Given the description of an element on the screen output the (x, y) to click on. 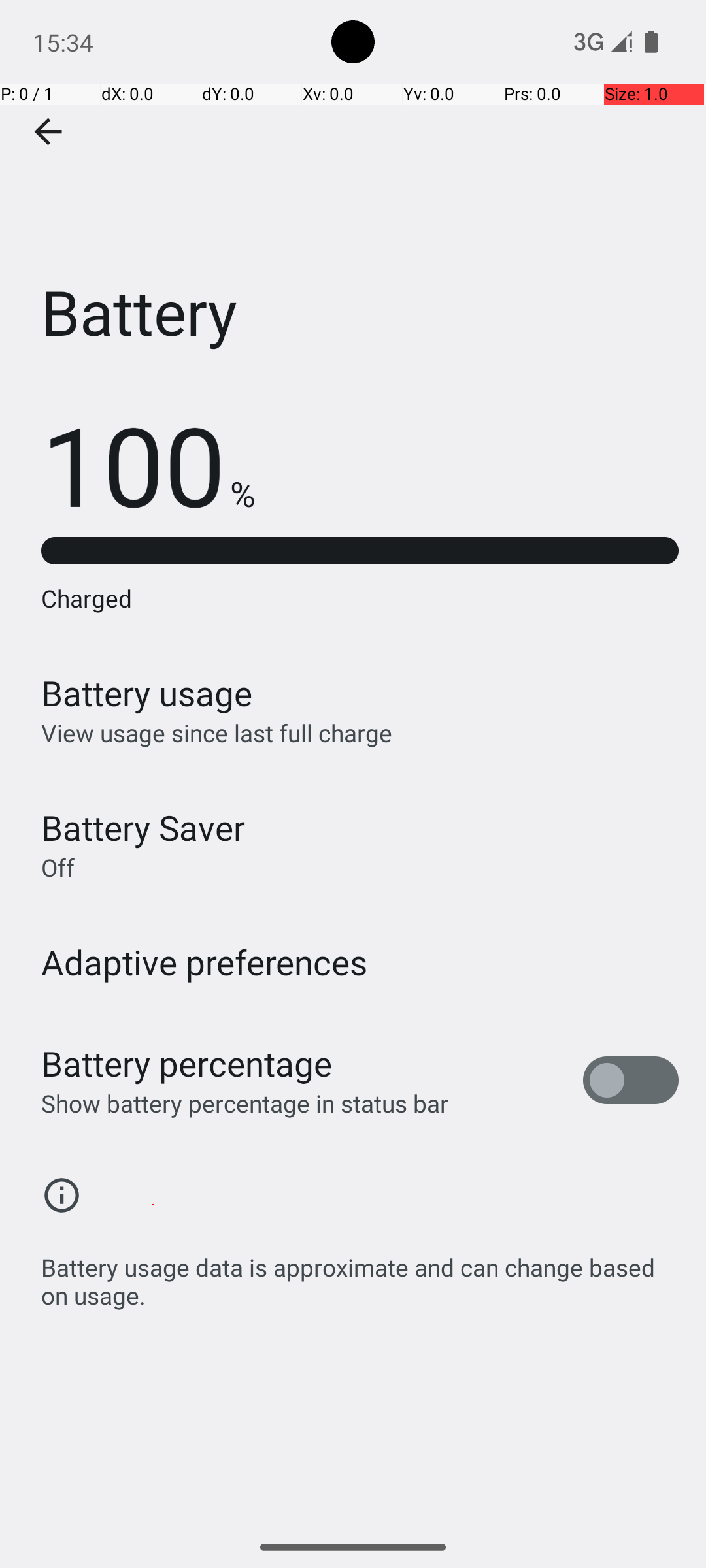
100 % Element type: android.widget.TextView (147, 463)
Charged Element type: android.widget.TextView (359, 597)
Battery usage Element type: android.widget.TextView (146, 692)
View usage since last full charge Element type: android.widget.TextView (216, 732)
Battery Saver Element type: android.widget.TextView (143, 827)
Adaptive preferences Element type: android.widget.TextView (204, 961)
Battery percentage Element type: android.widget.TextView (186, 1063)
Show battery percentage in status bar Element type: android.widget.TextView (244, 1102)
Battery usage data is approximate and can change based on usage. Element type: android.widget.TextView (359, 1274)
